Given the description of an element on the screen output the (x, y) to click on. 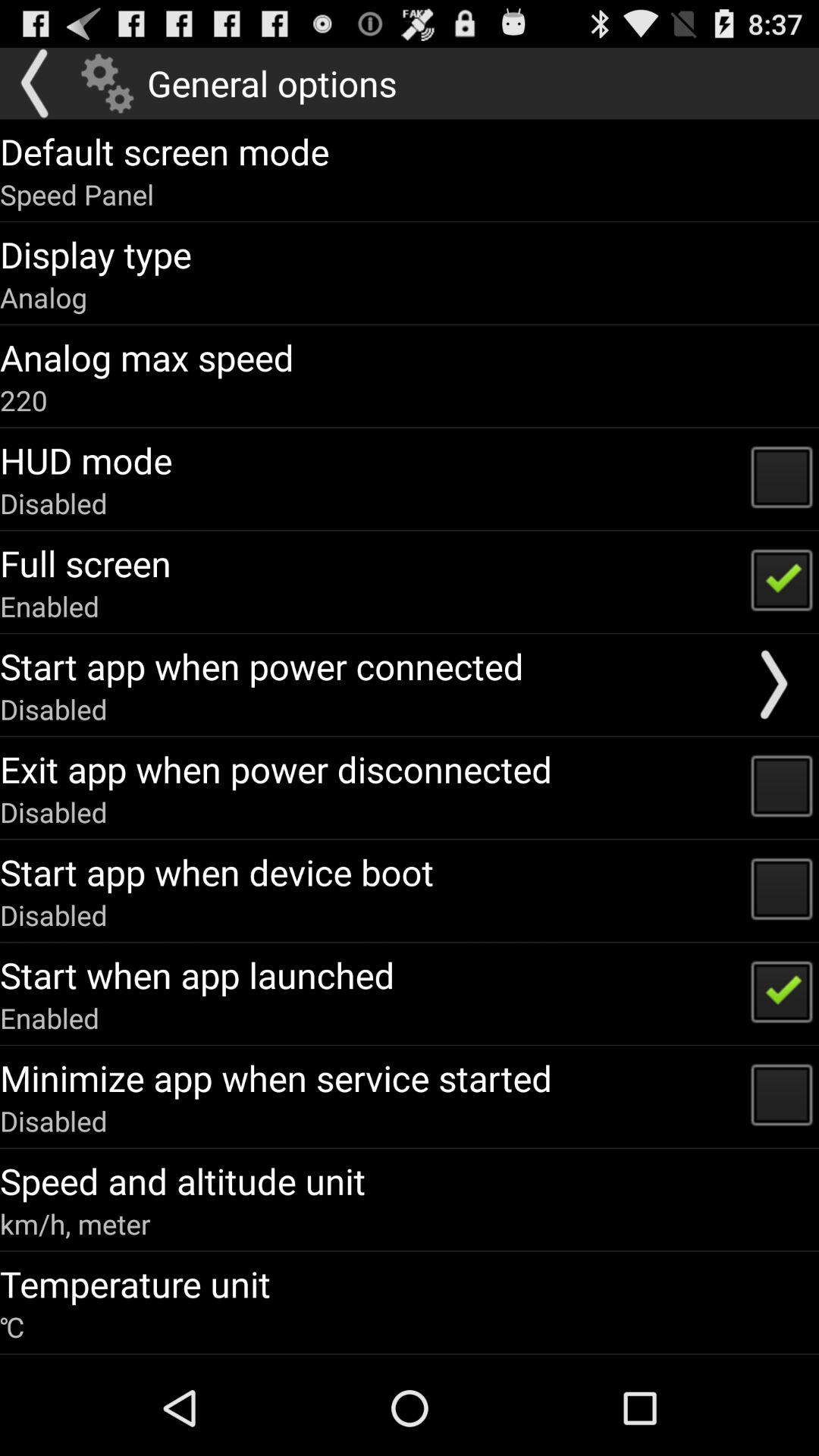
select the app below speed panel app (95, 254)
